Given the description of an element on the screen output the (x, y) to click on. 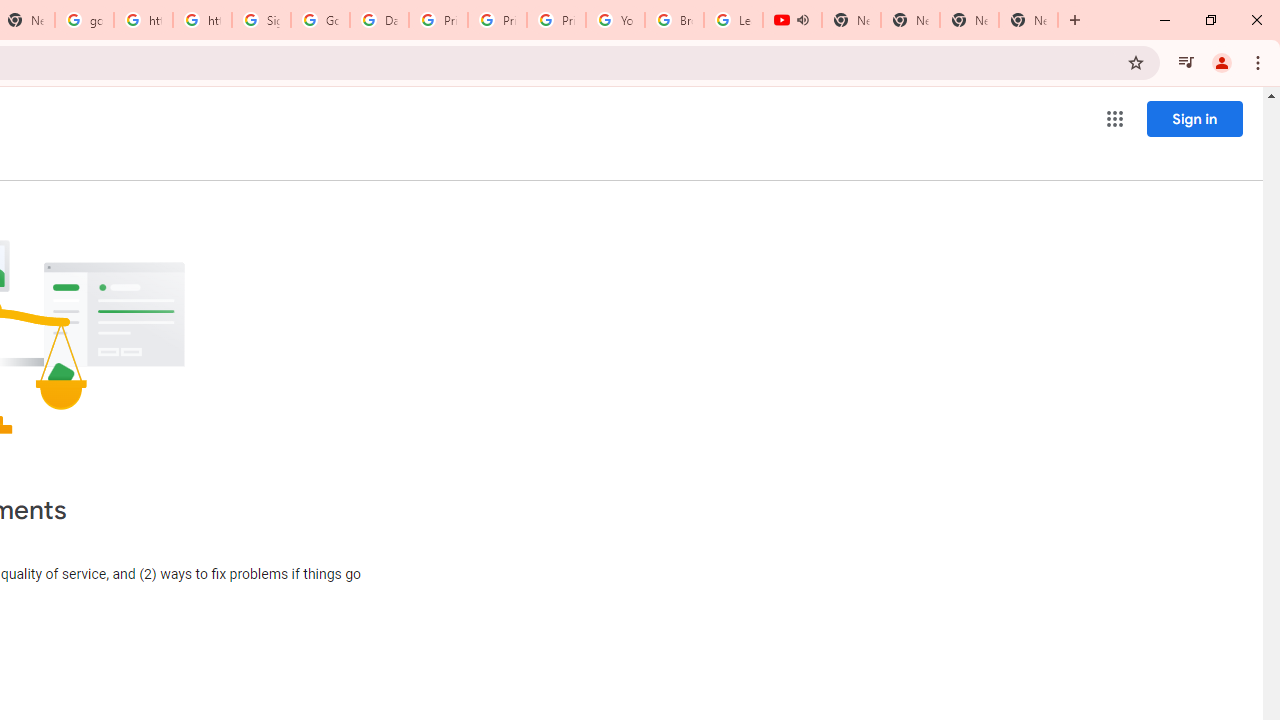
https://scholar.google.com/ (142, 20)
YouTube (615, 20)
